Given the description of an element on the screen output the (x, y) to click on. 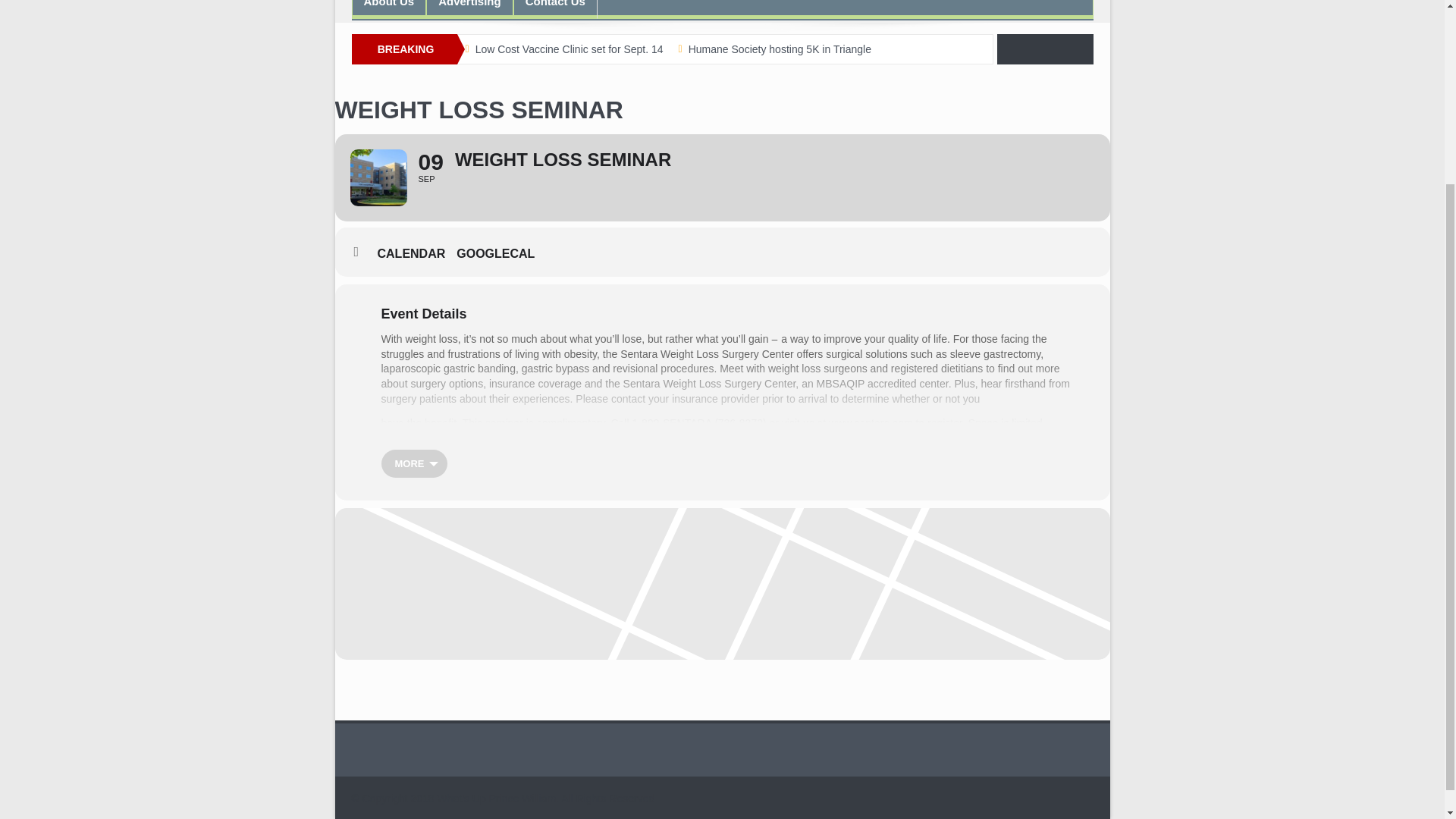
Contact Us (554, 9)
About Us (388, 9)
Advertising (469, 9)
